Given the description of an element on the screen output the (x, y) to click on. 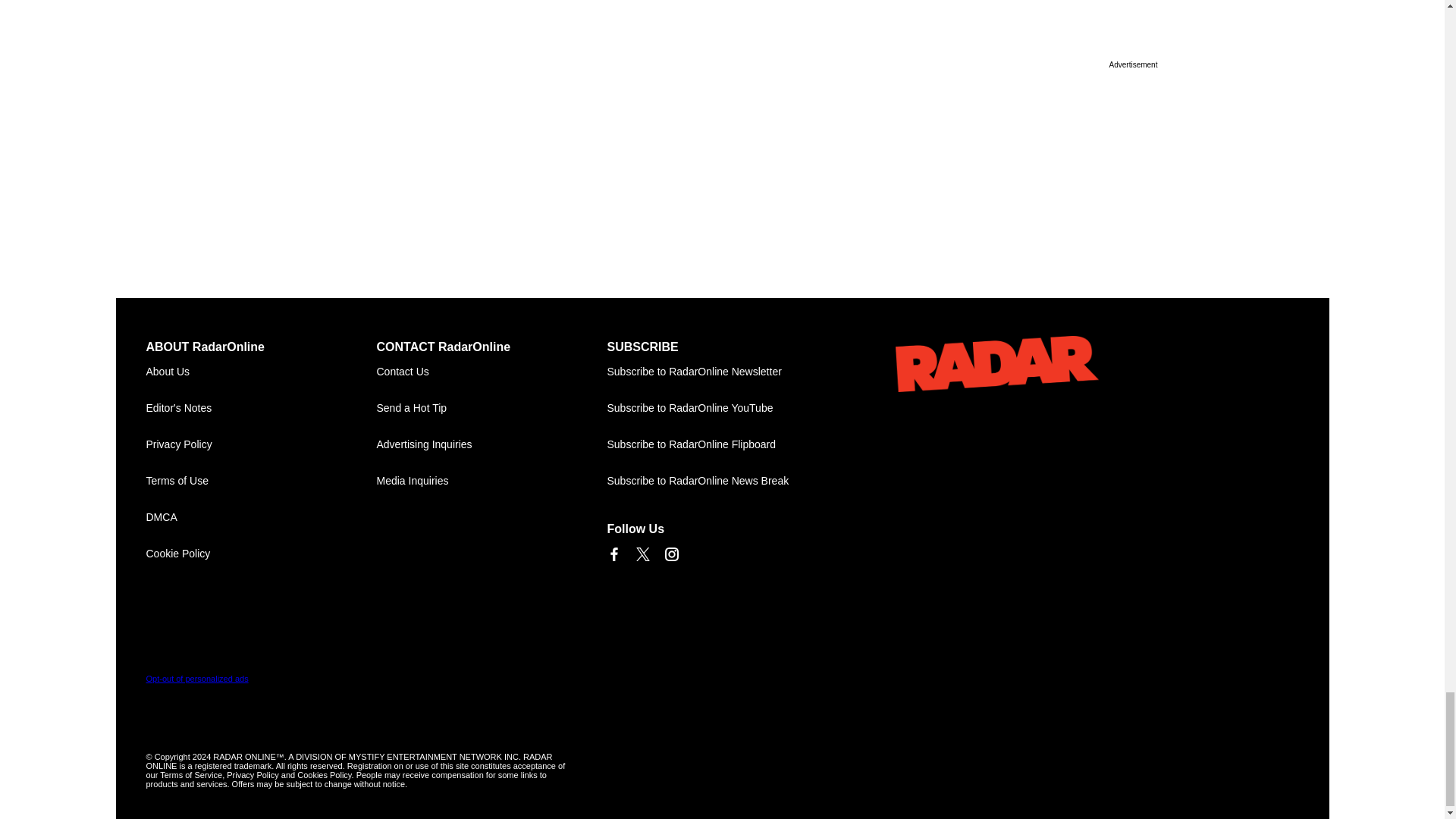
Advertising Inquiries (491, 444)
Terms of Use (260, 481)
Cookie Policy (260, 554)
Media Inquiries (491, 481)
About Us (260, 371)
Editor's Notes (260, 408)
Subscribe (722, 371)
DMCA (260, 517)
Send a Hot Tip (491, 408)
Link to Instagram (670, 554)
